Given the description of an element on the screen output the (x, y) to click on. 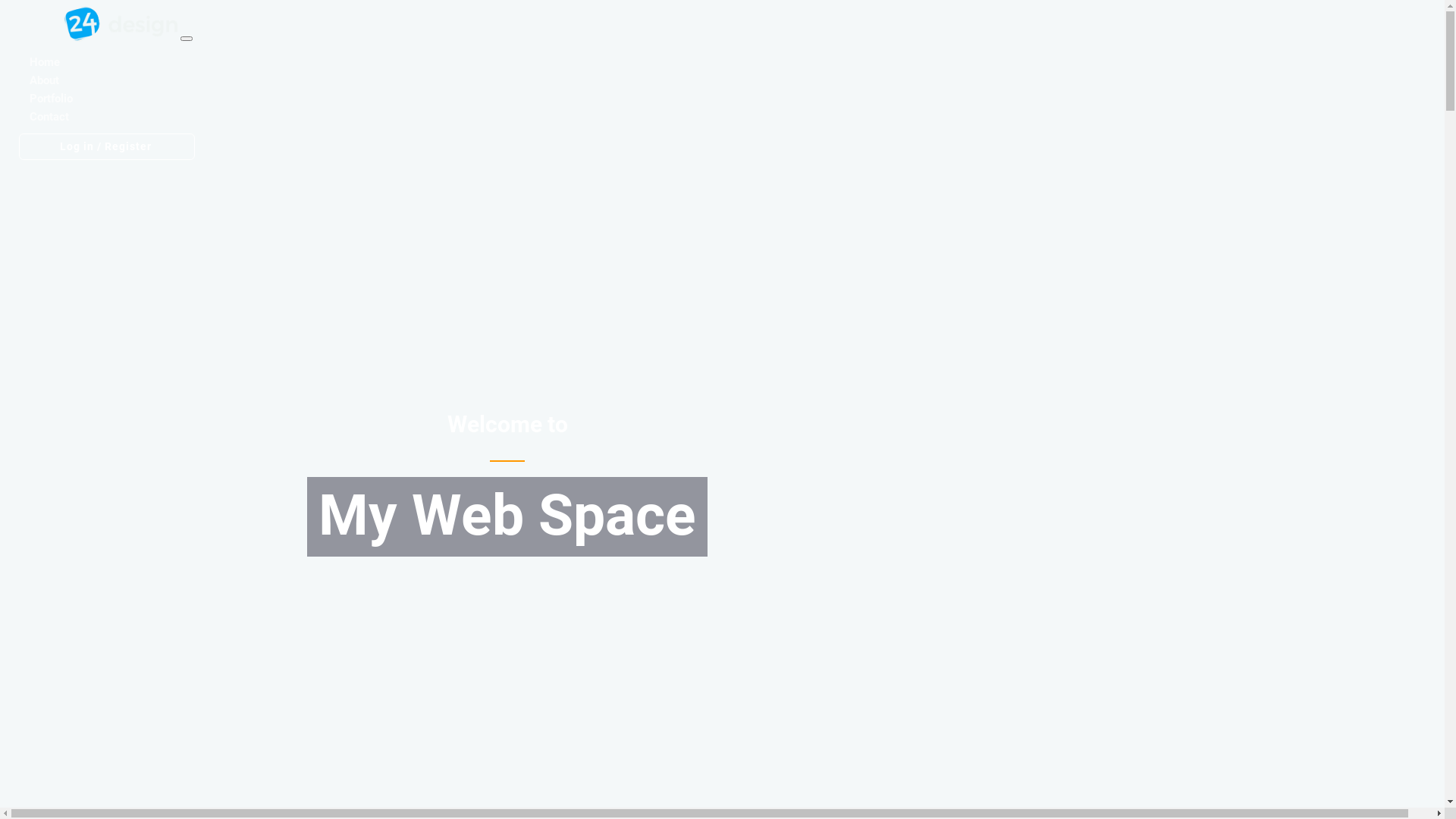
Portfolio Element type: text (50, 98)
About Element type: text (43, 79)
Home Element type: text (43, 61)
Contact Element type: text (48, 116)
  Log in / Register Element type: text (106, 146)
